Given the description of an element on the screen output the (x, y) to click on. 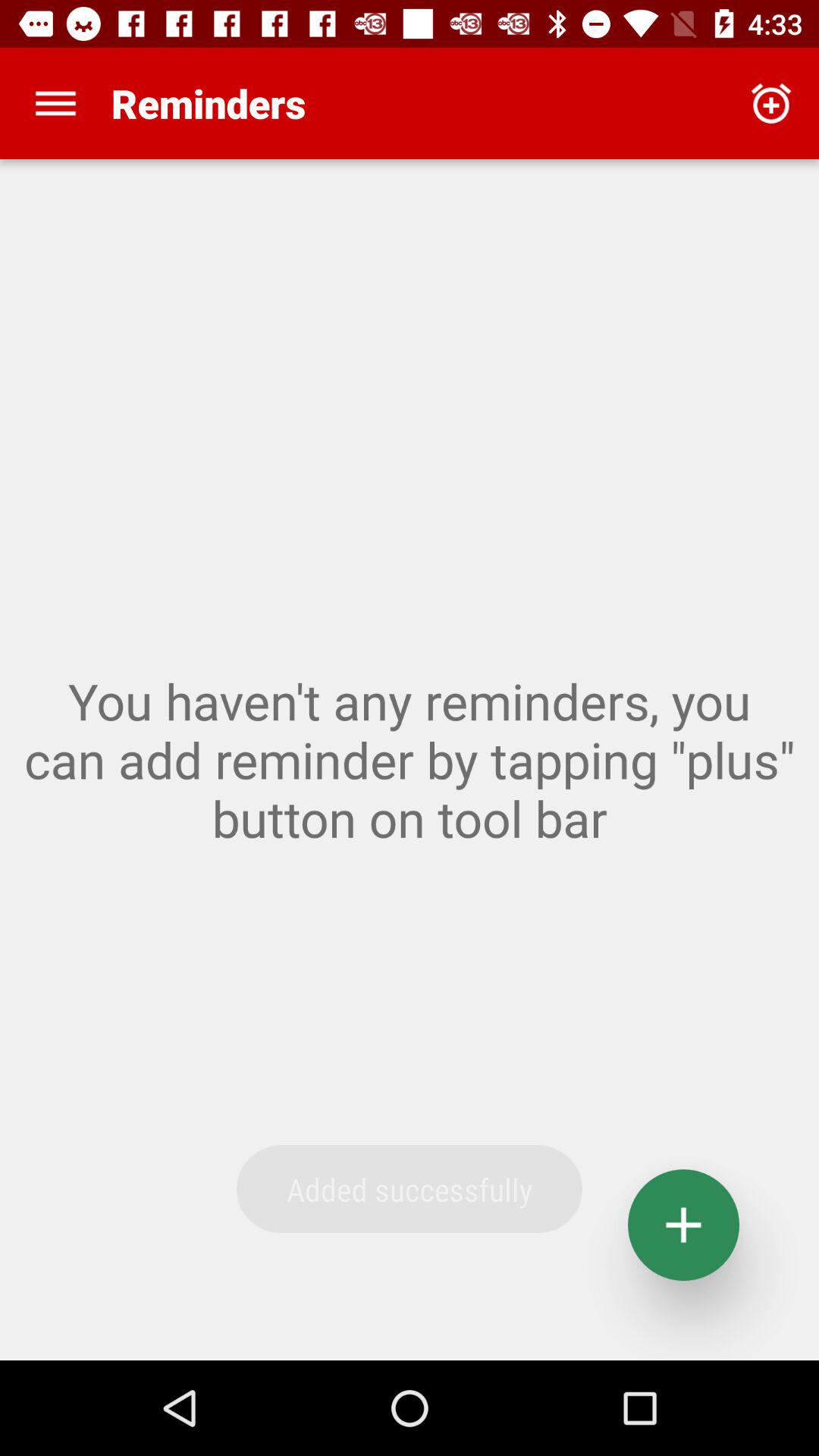
press the item next to reminders item (771, 103)
